Given the description of an element on the screen output the (x, y) to click on. 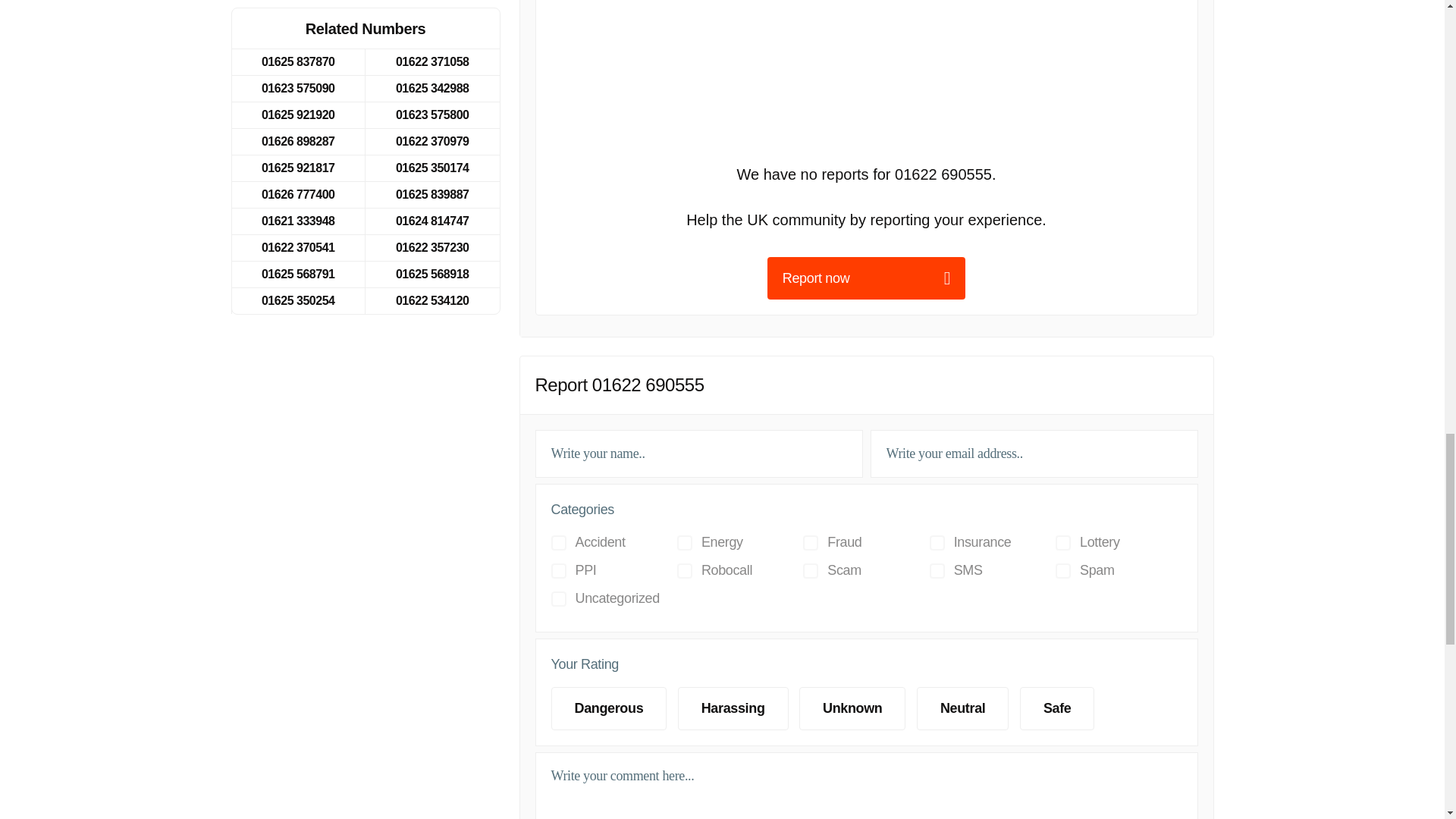
01625 568791 (297, 274)
01626 898287 (297, 141)
3 (896, 735)
01621 333948 (297, 221)
4 (896, 735)
01625 342988 Reports (432, 88)
10 (1062, 570)
01625 837870 Reports (297, 62)
01622 357230 (432, 247)
01622 371058 (432, 62)
01625 837870 (297, 62)
3 (685, 542)
01626 898287 Reports (297, 141)
01625 921817 (297, 167)
11 (558, 598)
